Given the description of an element on the screen output the (x, y) to click on. 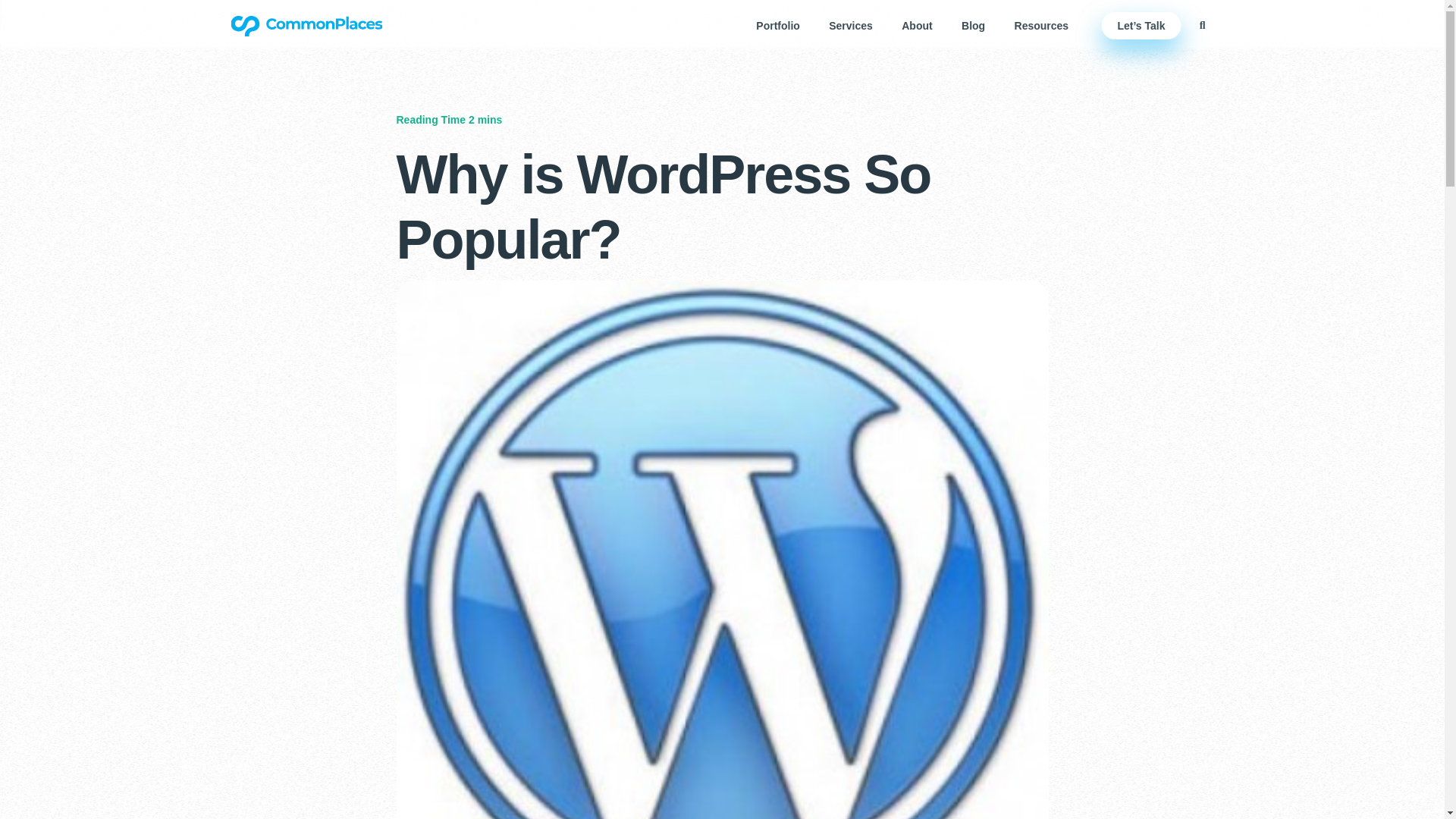
Services (849, 25)
Portfolio (777, 25)
Blog (972, 25)
About (916, 25)
Resources (1040, 25)
